Given the description of an element on the screen output the (x, y) to click on. 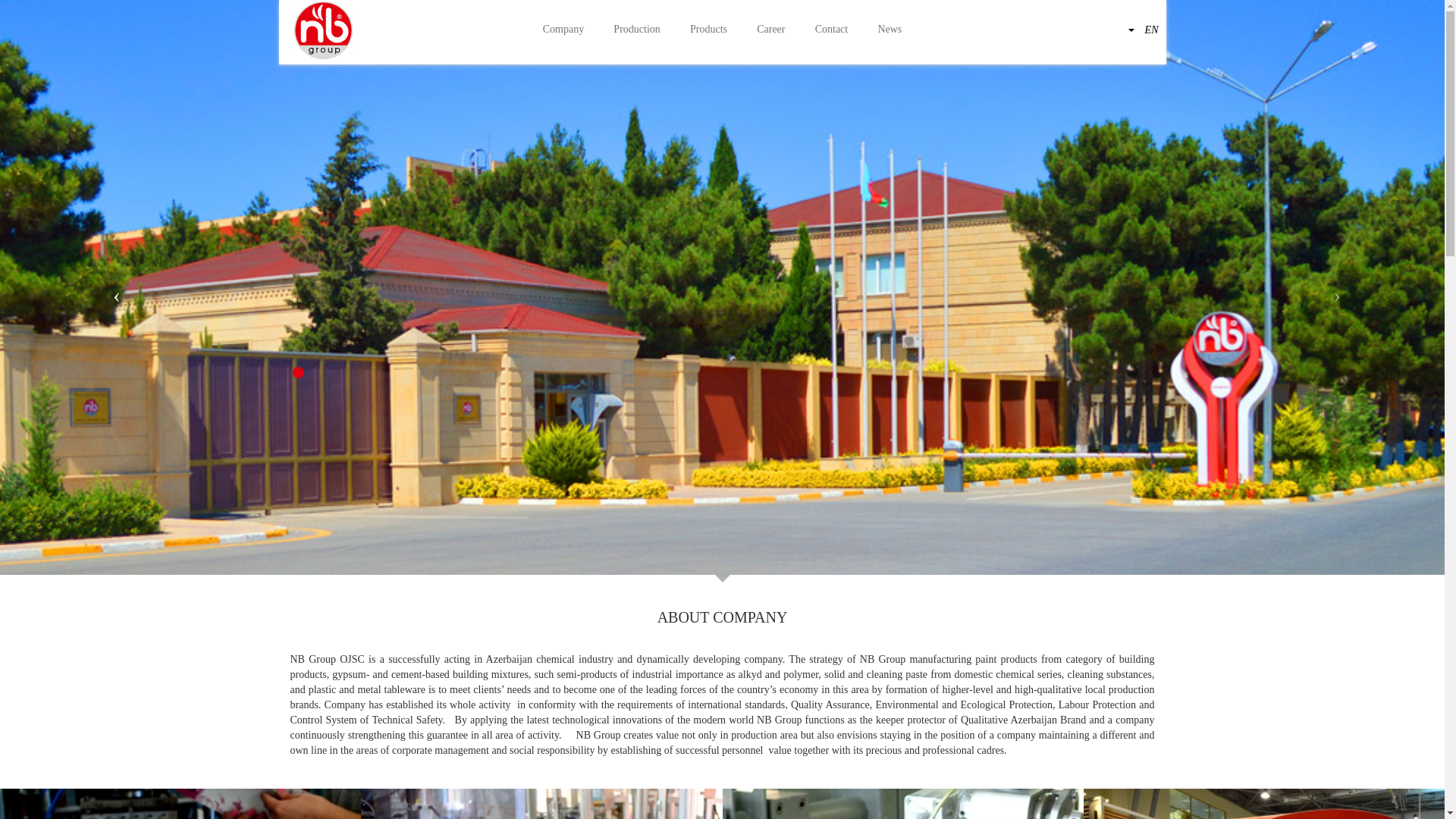
News Element type: text (889, 29)
Company Element type: text (563, 29)
Contact Element type: text (831, 29)
Production Element type: text (637, 29)
Products Element type: text (707, 29)
Career Element type: text (771, 29)
